Given the description of an element on the screen output the (x, y) to click on. 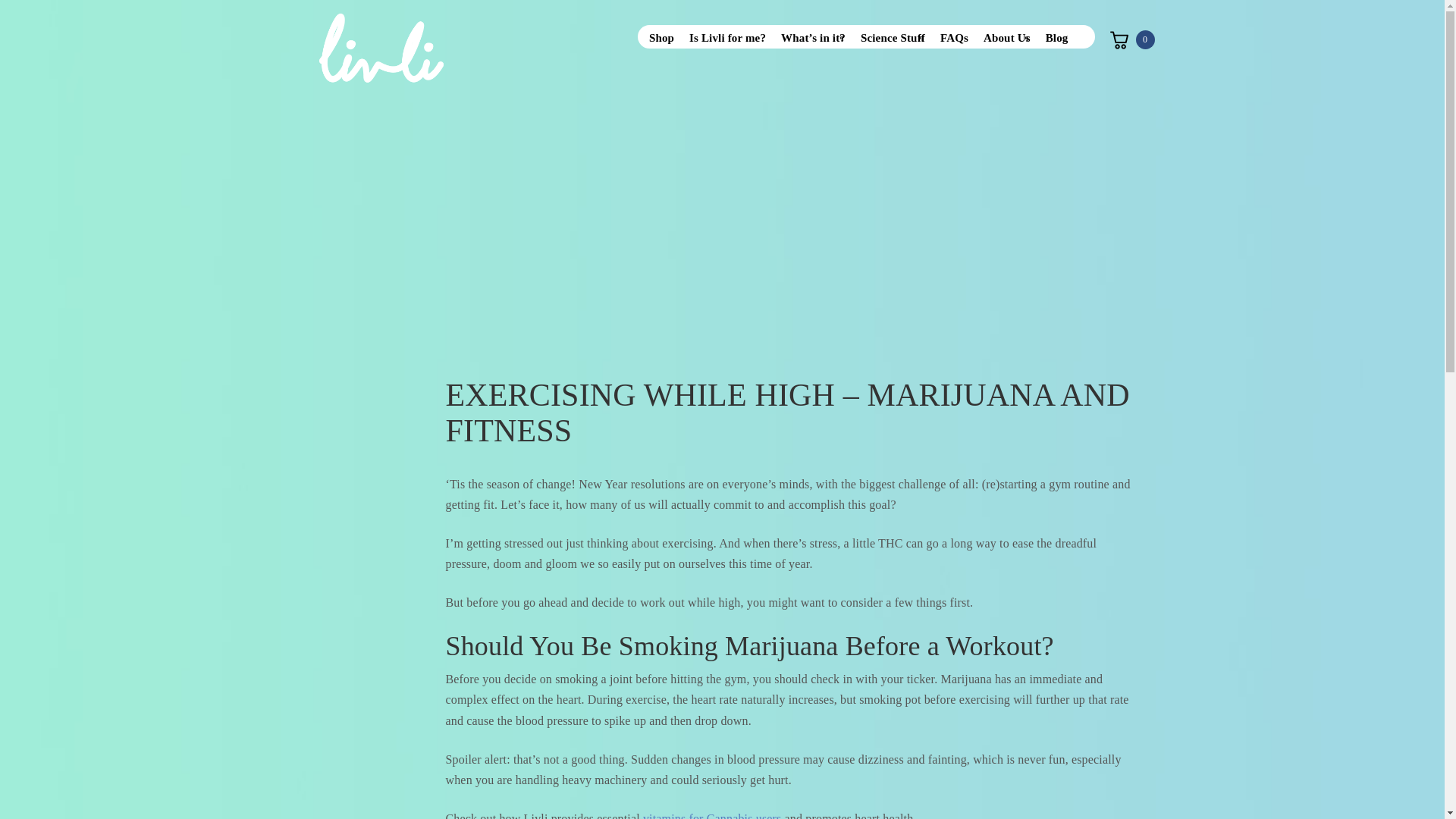
Blog (1056, 35)
FAQs (954, 35)
About Us (1006, 35)
Science Stuff (893, 35)
0 (1131, 39)
Shop (661, 35)
Is Livli for me? (727, 35)
vitamins for Cannabis users (712, 815)
